Given the description of an element on the screen output the (x, y) to click on. 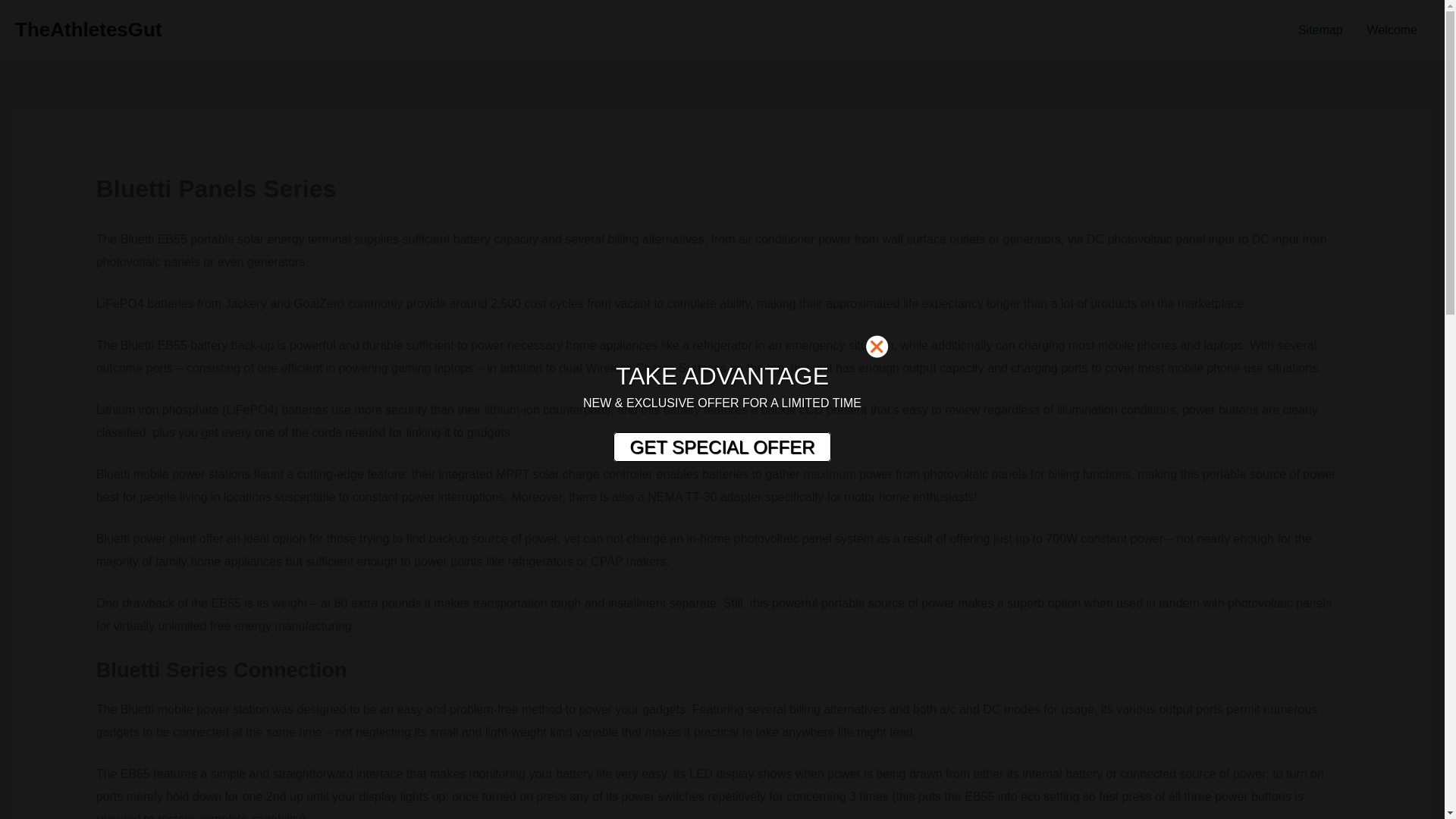
TheAthletesGut (87, 29)
Welcome (1392, 30)
GET SPECIAL OFFER (720, 446)
Sitemap (1320, 30)
